Given the description of an element on the screen output the (x, y) to click on. 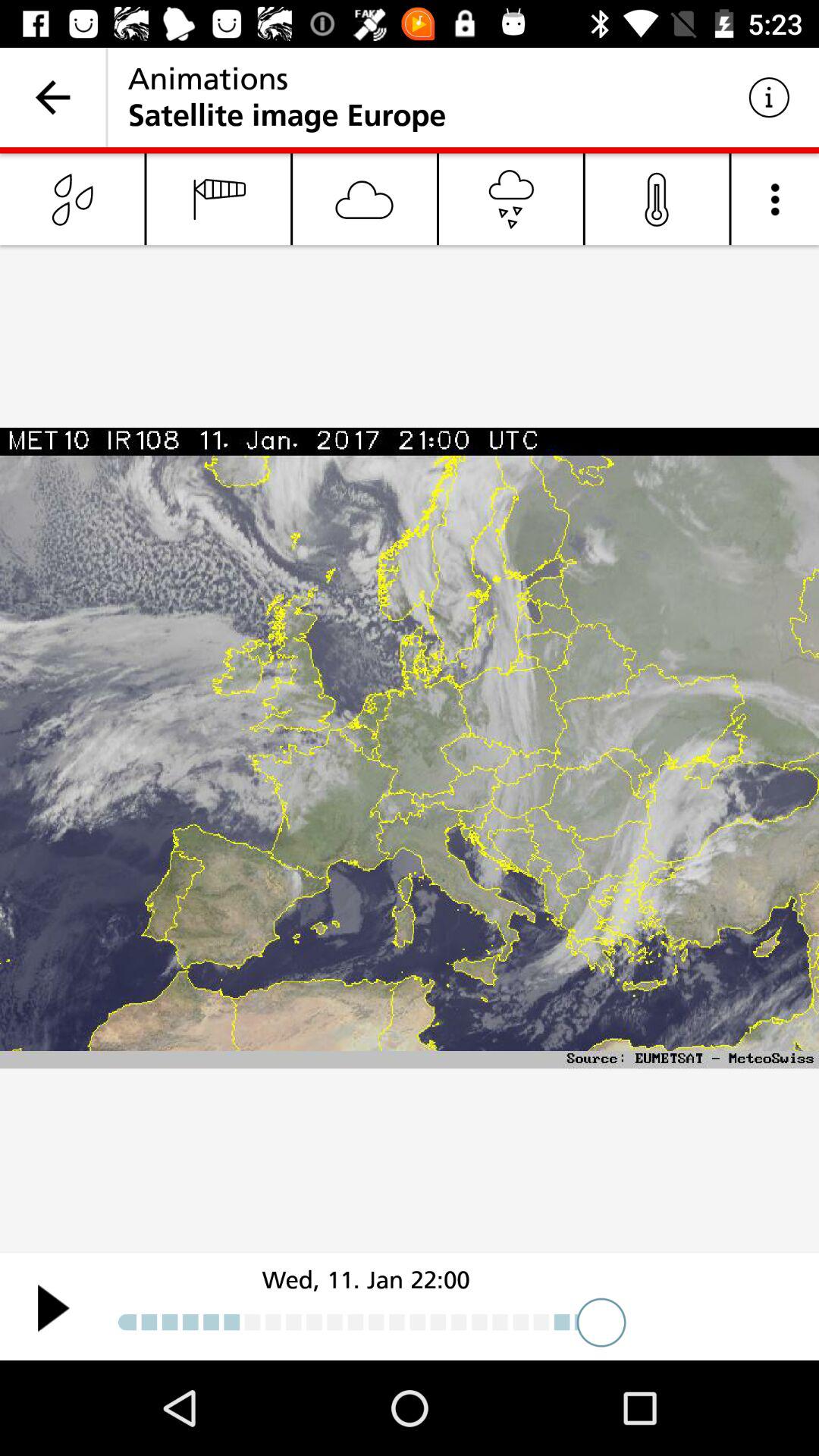
play video (53, 1307)
